Given the description of an element on the screen output the (x, y) to click on. 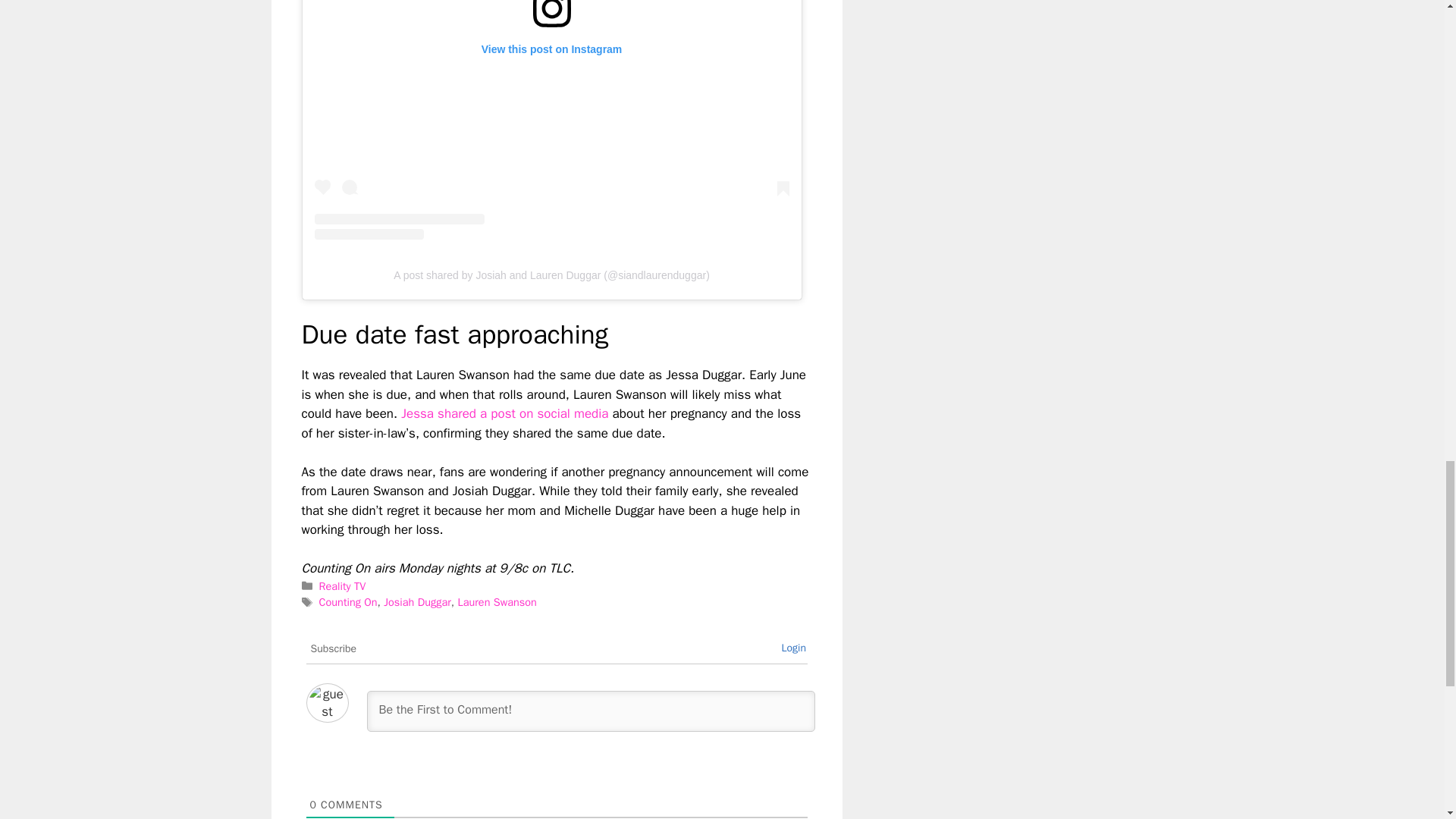
Josiah Duggar (417, 602)
Login (793, 647)
Counting On (347, 602)
Reality TV (342, 585)
Lauren Swanson (496, 602)
Jessa shared a post on social media (504, 413)
